Given the description of an element on the screen output the (x, y) to click on. 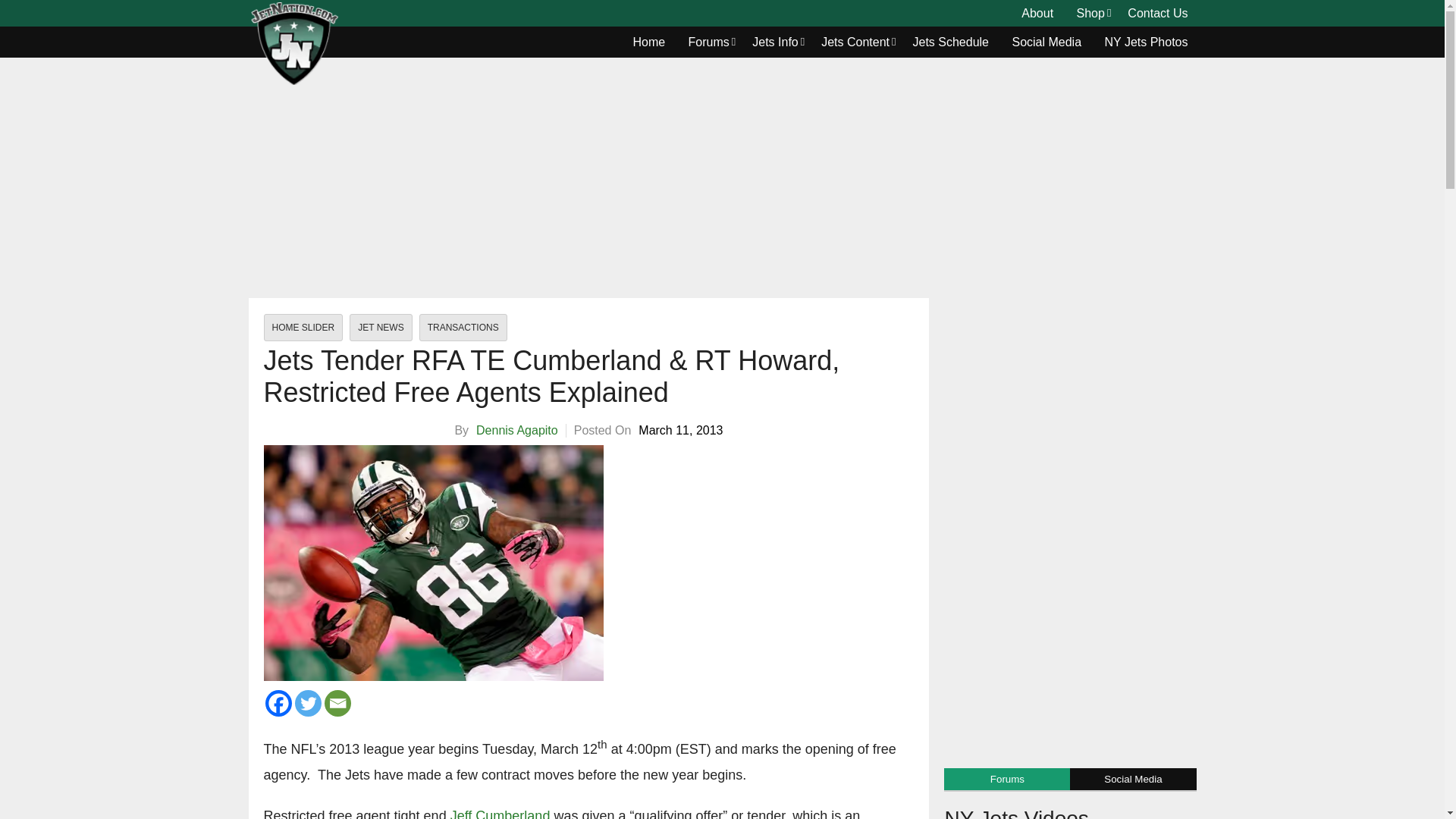
Dennis Agapito (516, 430)
Social Media (1046, 41)
Facebook (278, 703)
Shop (1090, 13)
TRANSACTIONS (462, 327)
JET NEWS (380, 327)
Contact Us (1157, 13)
2013-03-11 (680, 430)
HOME SLIDER (303, 327)
NY Jets Photos (1146, 41)
